Given the description of an element on the screen output the (x, y) to click on. 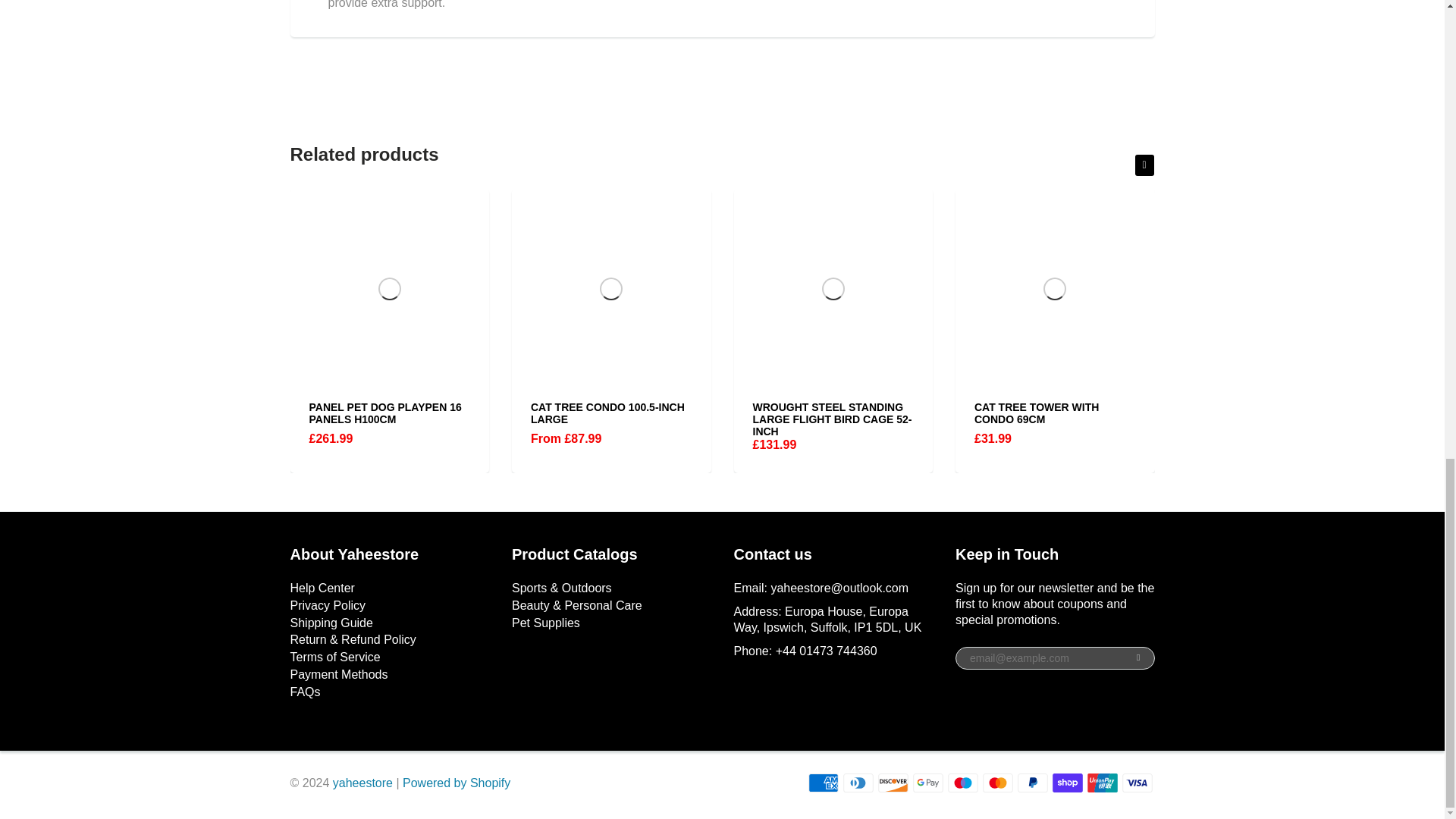
Maestro (962, 782)
PayPal (1032, 782)
American Express (823, 782)
Union Pay (1102, 782)
Shop Pay (1067, 782)
Diners Club (858, 782)
Visa (1137, 782)
Discover (892, 782)
Mastercard (997, 782)
Google Pay (927, 782)
